Given the description of an element on the screen output the (x, y) to click on. 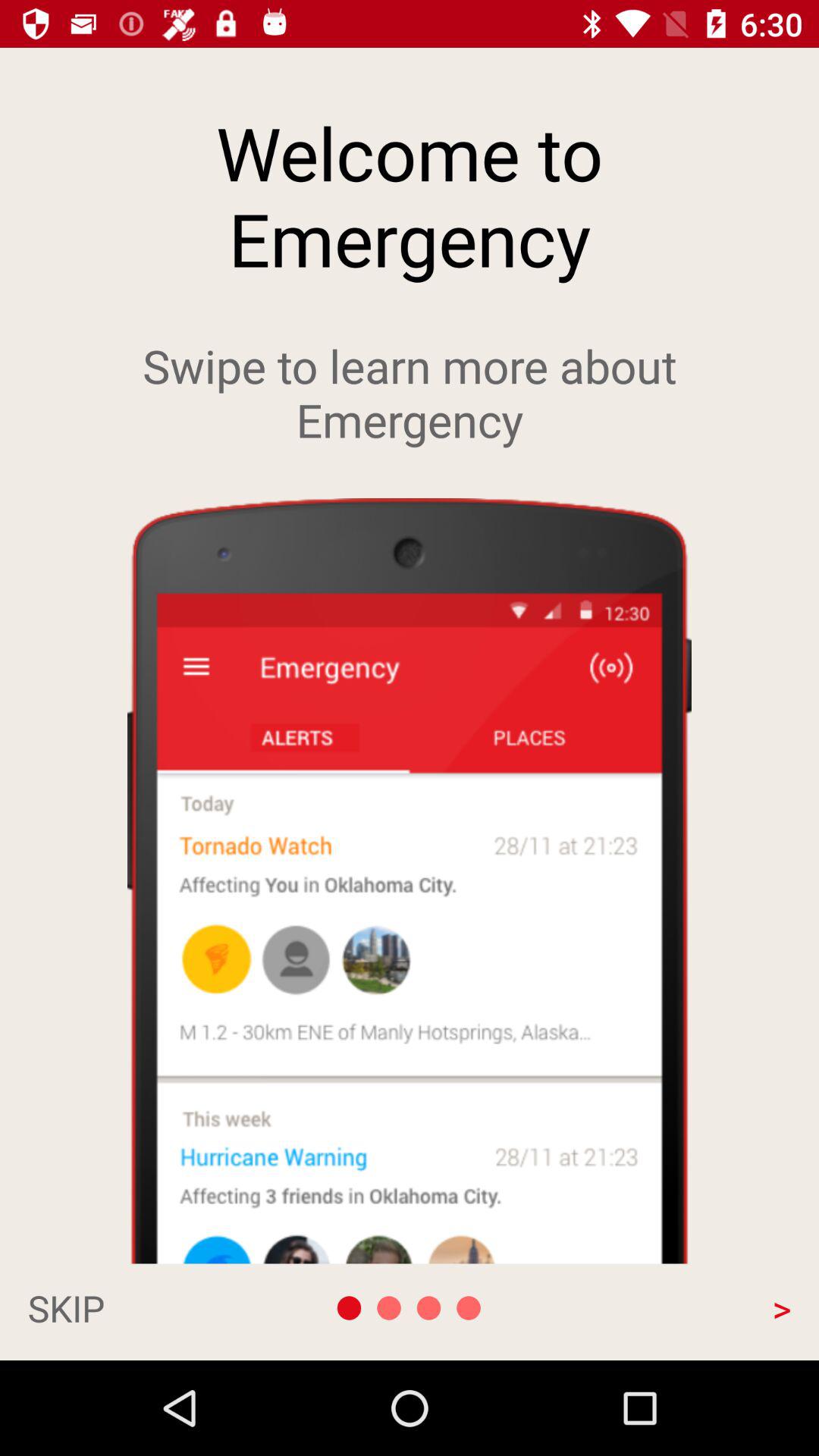
select the skip app (141, 1307)
